Given the description of an element on the screen output the (x, y) to click on. 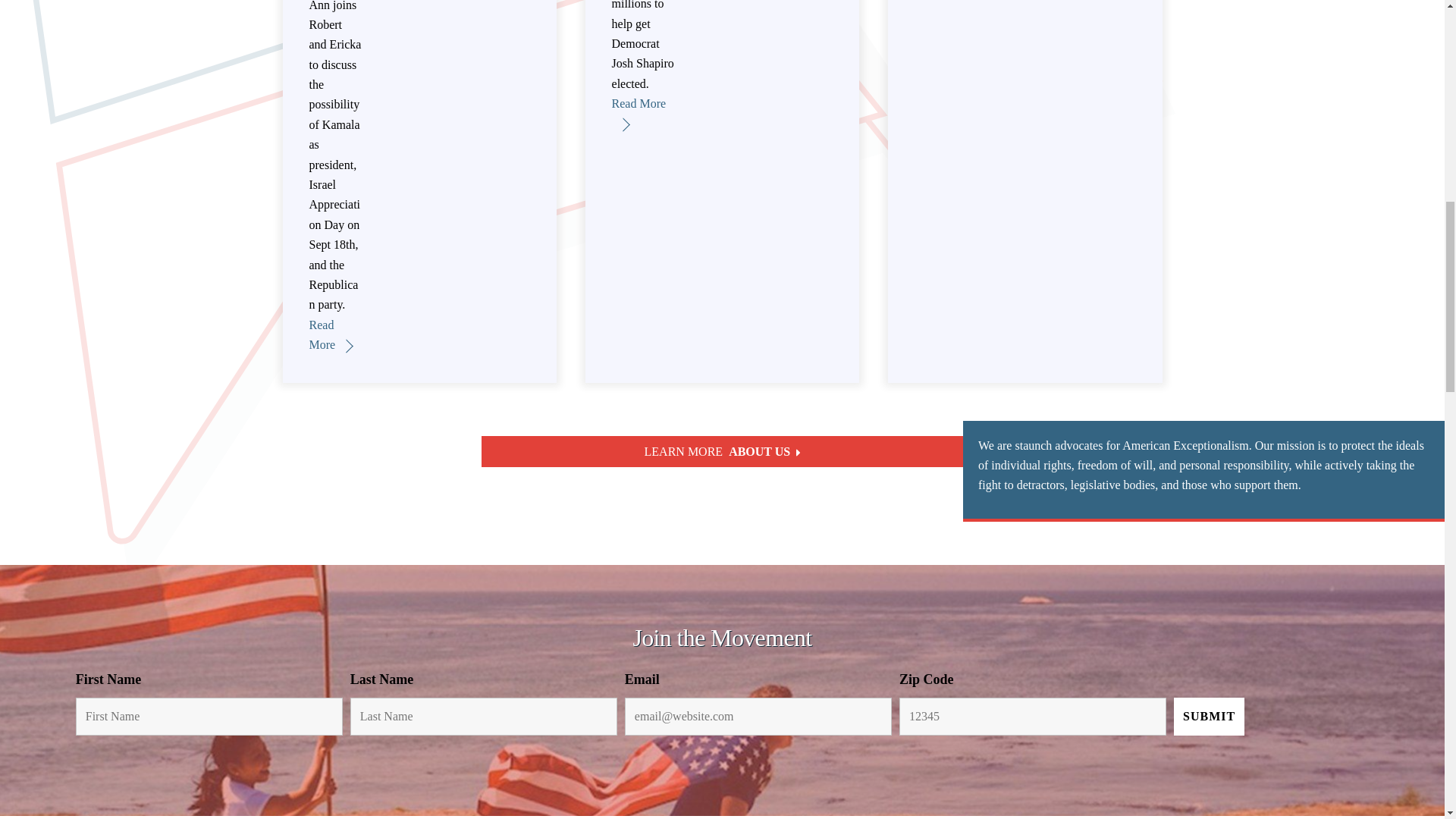
Submit (1208, 716)
Read More (330, 334)
